Given the description of an element on the screen output the (x, y) to click on. 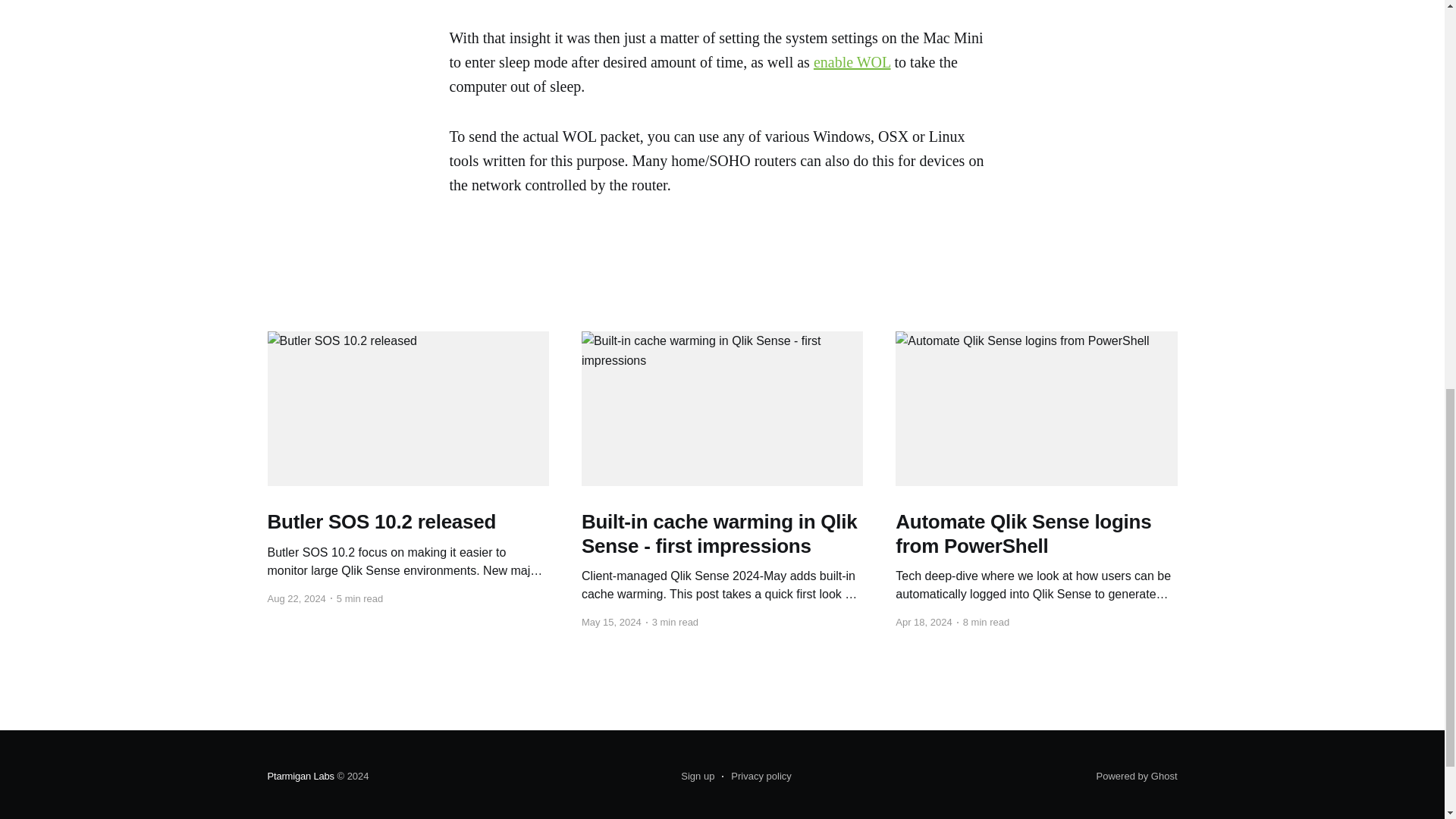
Powered by Ghost (1136, 776)
Sign up (697, 776)
Privacy policy (756, 776)
enable WOL (852, 62)
Ptarmigan Labs (299, 776)
